Given the description of an element on the screen output the (x, y) to click on. 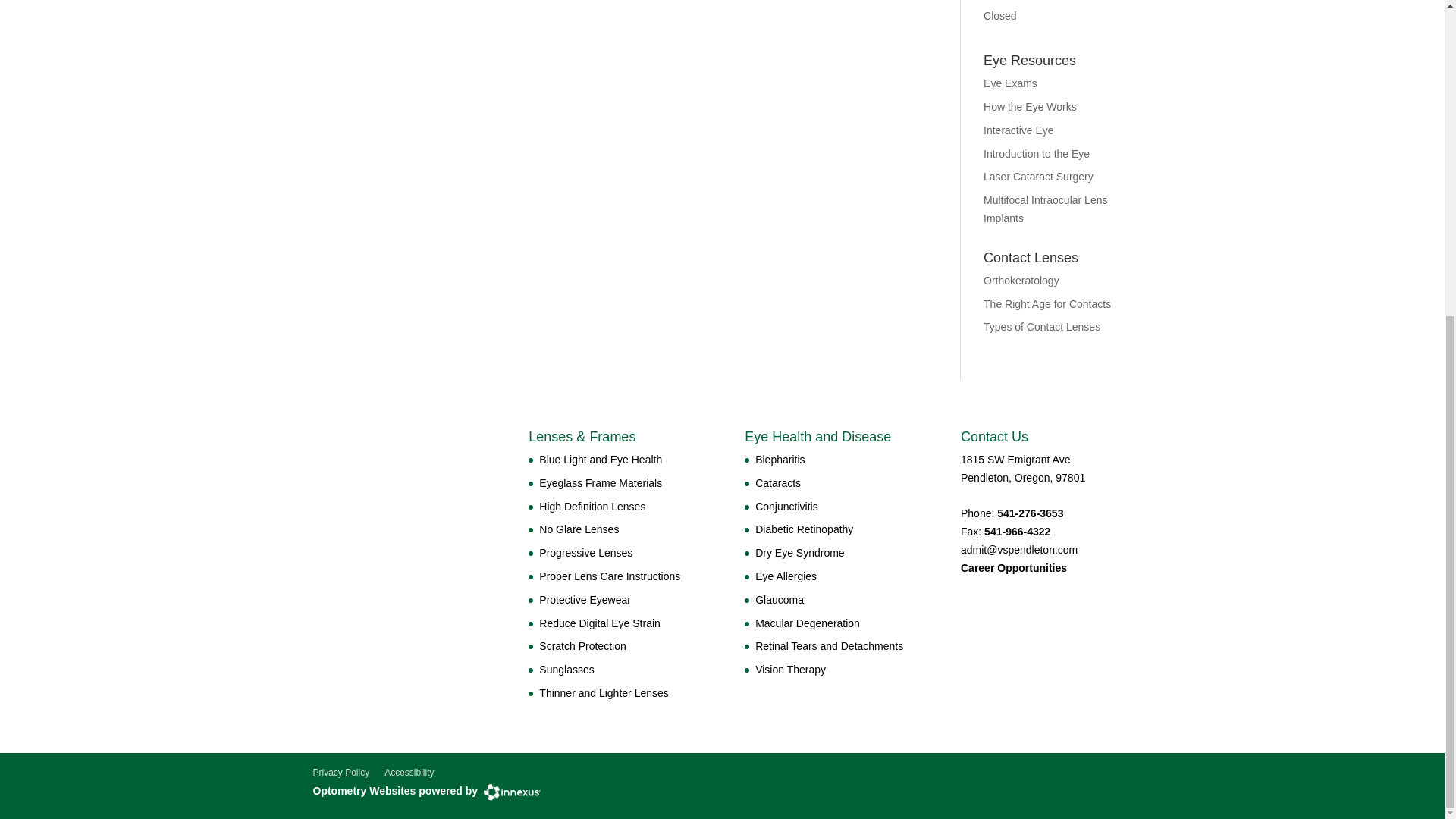
Blepharitis (780, 459)
No Glare Lenses (578, 529)
The Right Age for Contacts (1047, 304)
Multifocal Intraocular Lens Implants (1045, 209)
Laser Cataract Surgery (1038, 176)
High Definition Lenses (591, 506)
Protective Eyewear (584, 599)
Interactive Eye (1019, 130)
Introduction to the Eye (1036, 153)
Sunglasses (566, 669)
